Given the description of an element on the screen output the (x, y) to click on. 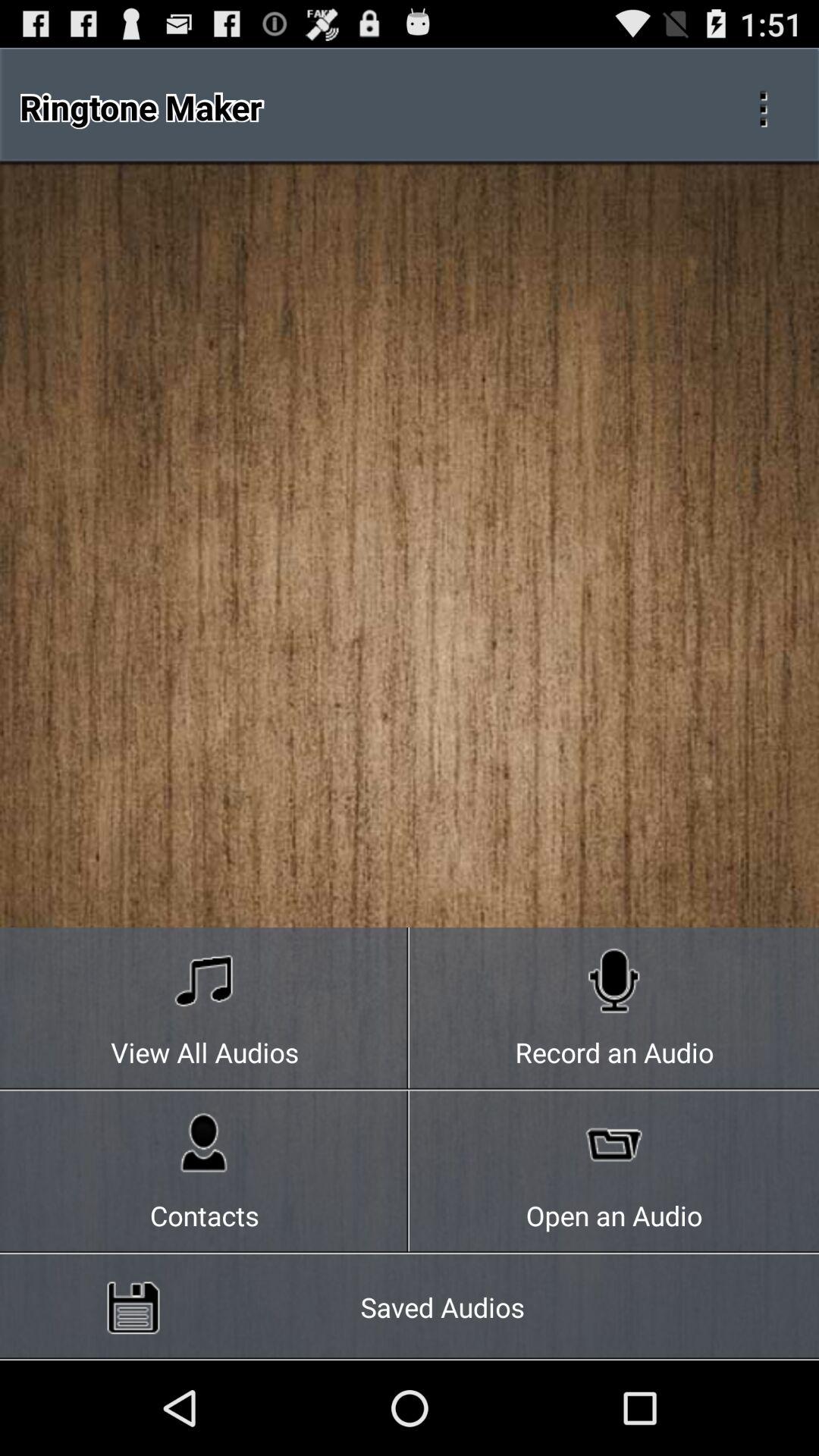
click the icon to the left of the record an audio button (204, 1172)
